Given the description of an element on the screen output the (x, y) to click on. 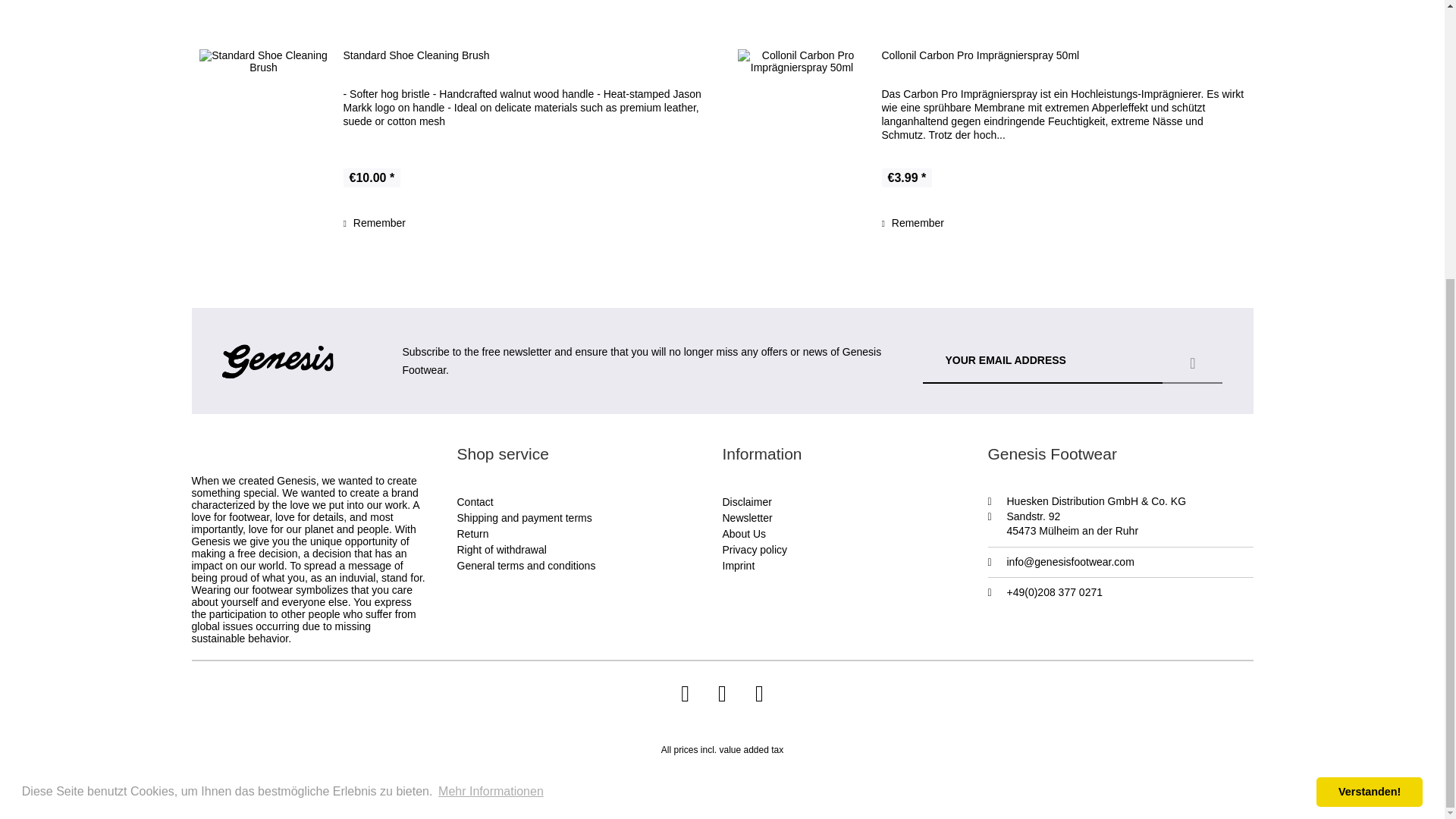
Verstanden! (1369, 377)
Mehr Informationen (490, 377)
